Given the description of an element on the screen output the (x, y) to click on. 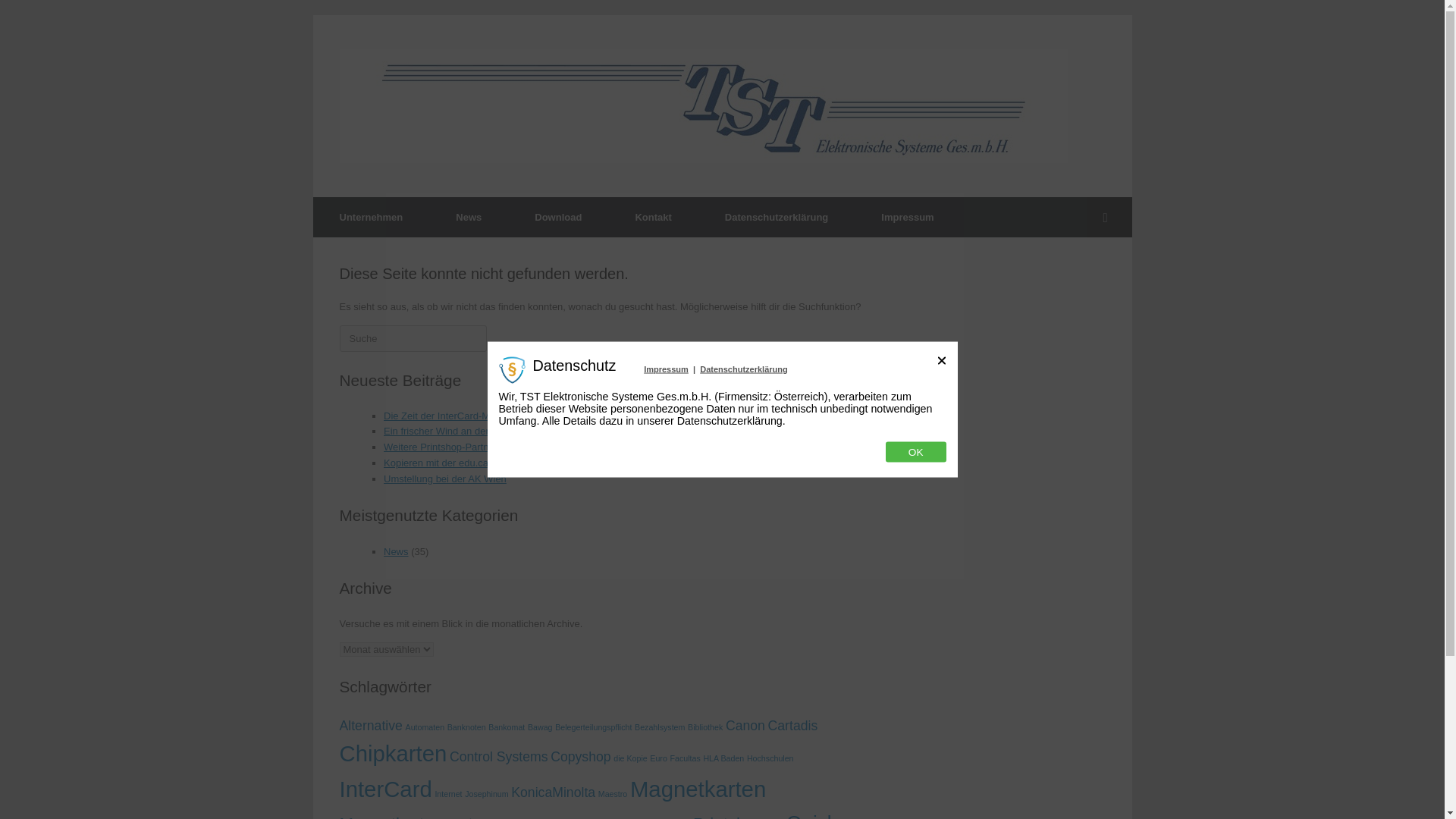
News (468, 217)
Copyshop (580, 756)
Hochschulen (769, 757)
Bibliothek (704, 727)
Euro (657, 757)
Alternative (371, 725)
Chipkarten (392, 753)
Bawag (540, 727)
